Given the description of an element on the screen output the (x, y) to click on. 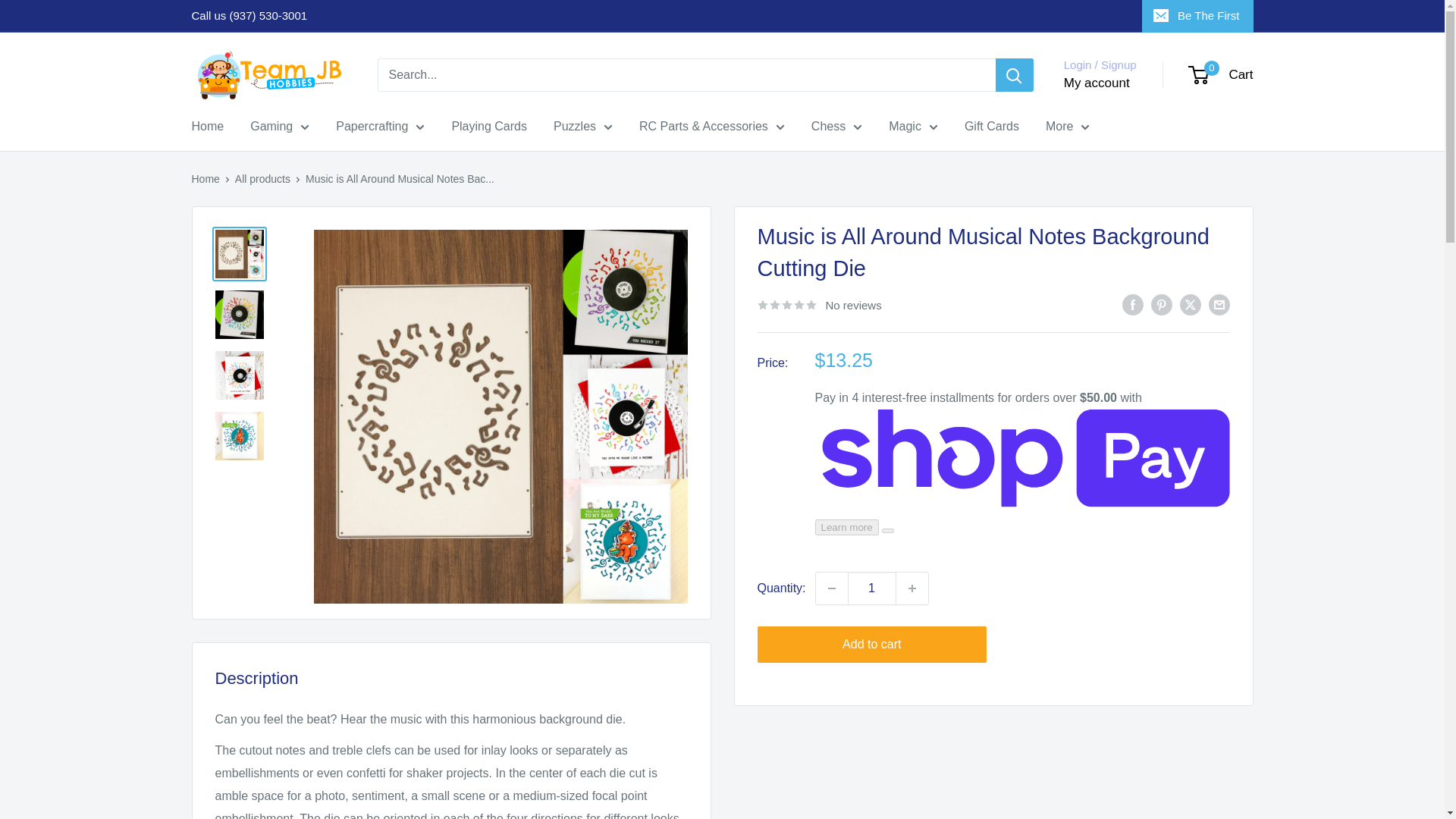
Be The First (1196, 15)
Decrease quantity by 1 (831, 588)
1 (871, 588)
Increase quantity by 1 (912, 588)
